Given the description of an element on the screen output the (x, y) to click on. 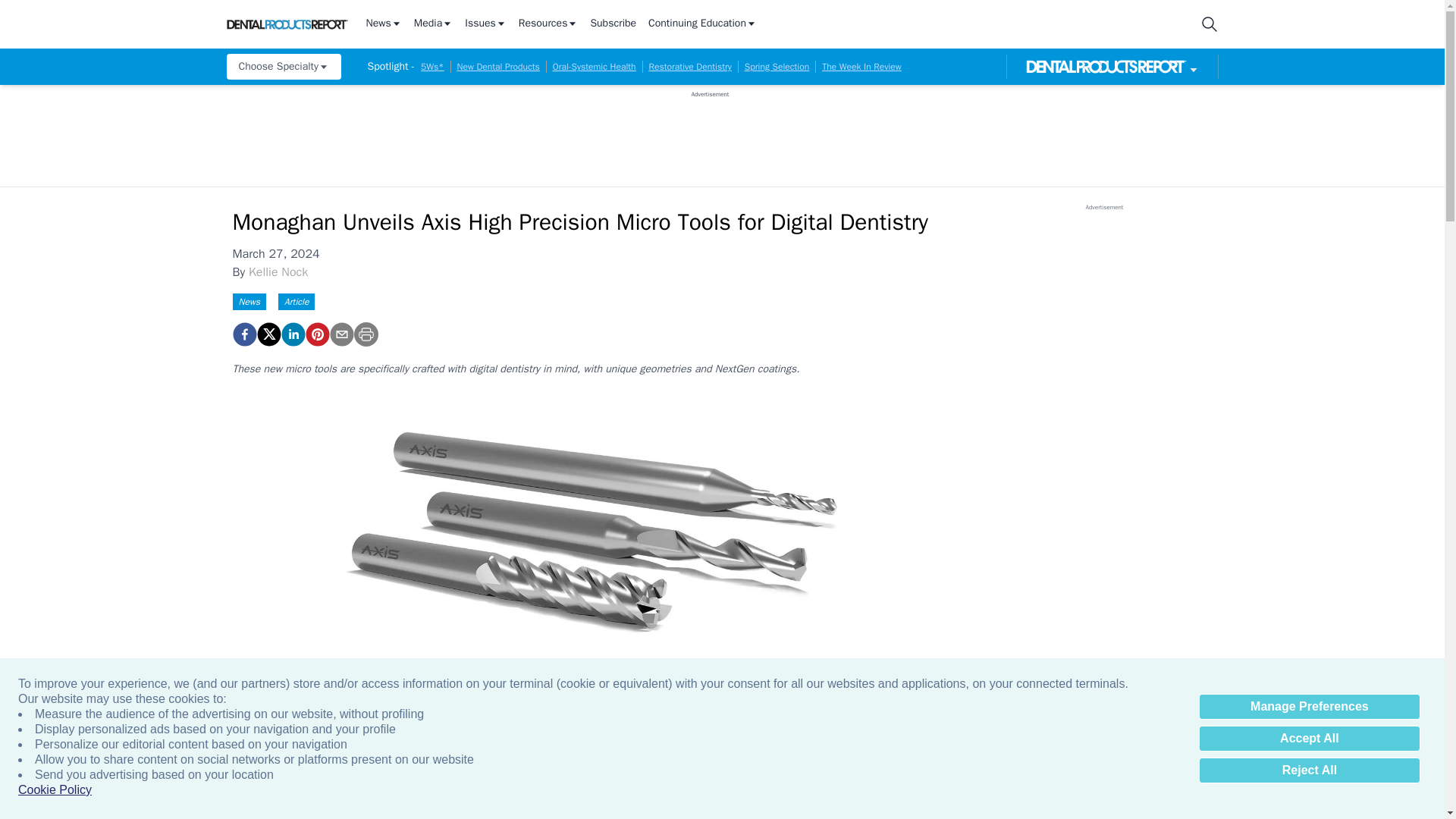
Issues (485, 23)
News (383, 23)
Accept All (1309, 738)
Resources (548, 23)
Reject All (1309, 769)
Media (432, 23)
Manage Preferences (1309, 706)
3rd party ad content (709, 132)
Cookie Policy (54, 789)
